Given the description of an element on the screen output the (x, y) to click on. 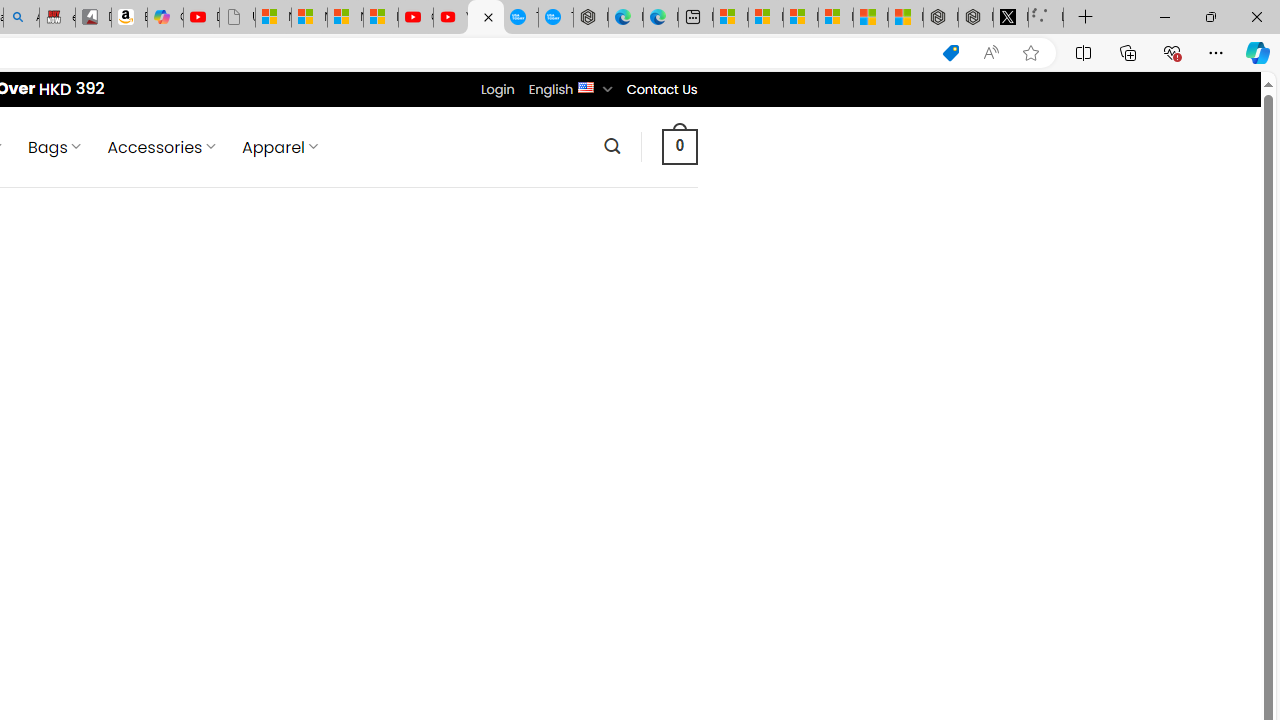
 0  (679, 146)
Nordace (@NordaceOfficial) / X (1010, 17)
This site has coupons! Shopping in Microsoft Edge (950, 53)
English (586, 86)
The most popular Google 'how to' searches (555, 17)
